Given the description of an element on the screen output the (x, y) to click on. 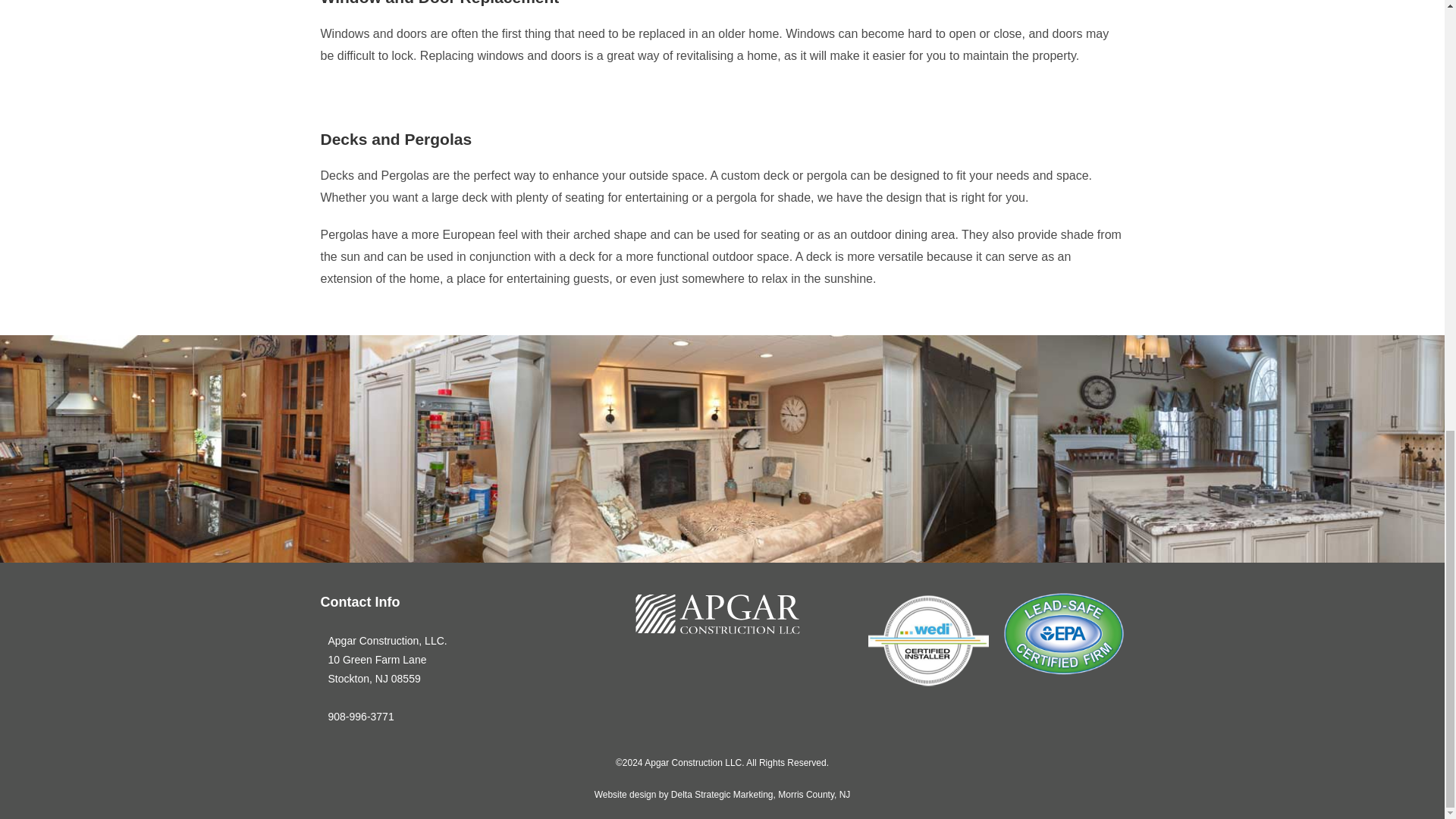
wedi-service-badge-150 (927, 640)
lead-safe-150 (1064, 633)
white-logo (717, 613)
Delta Strategic Marketing (722, 794)
